Given the description of an element on the screen output the (x, y) to click on. 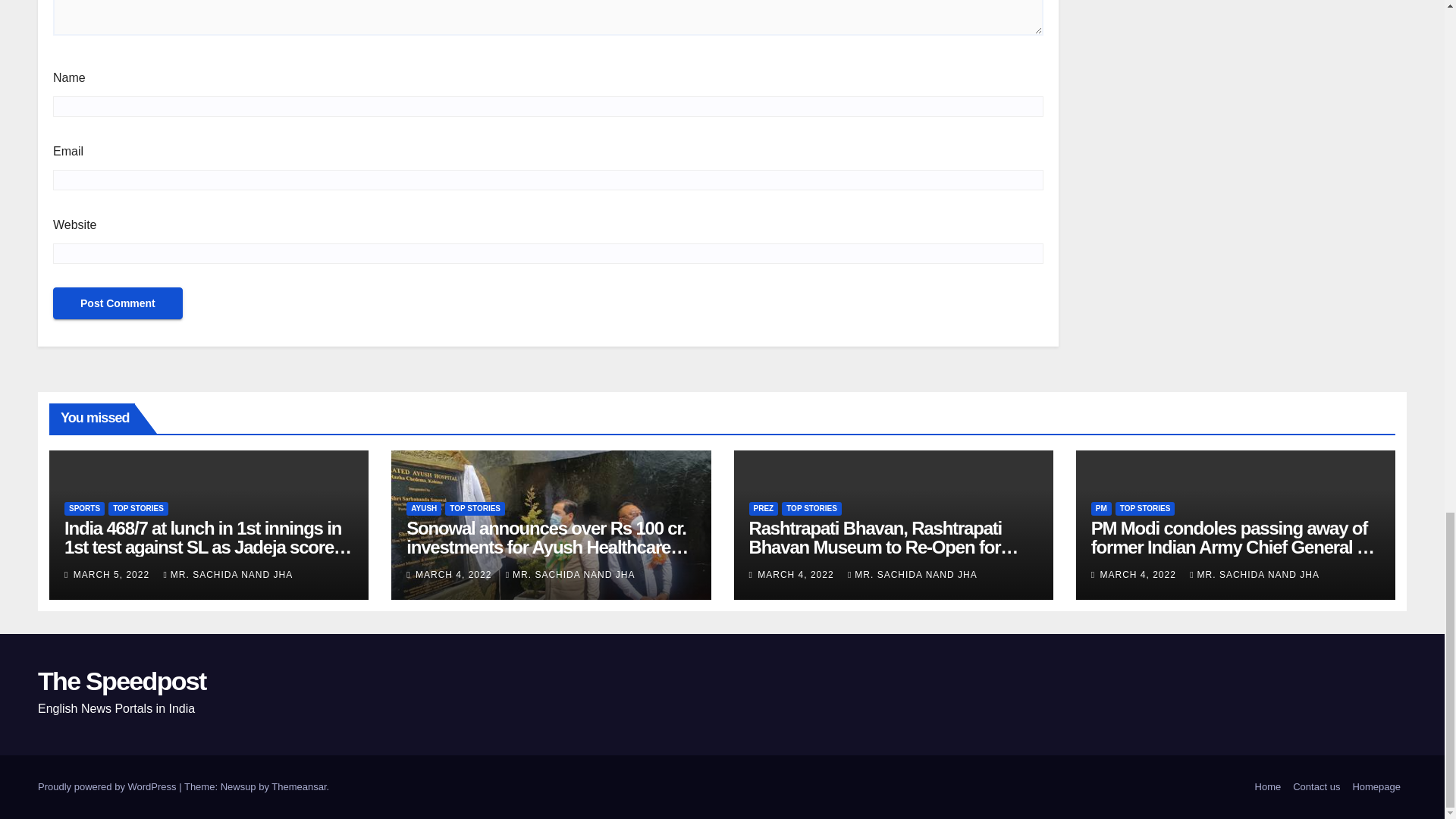
Post Comment (117, 303)
